Given the description of an element on the screen output the (x, y) to click on. 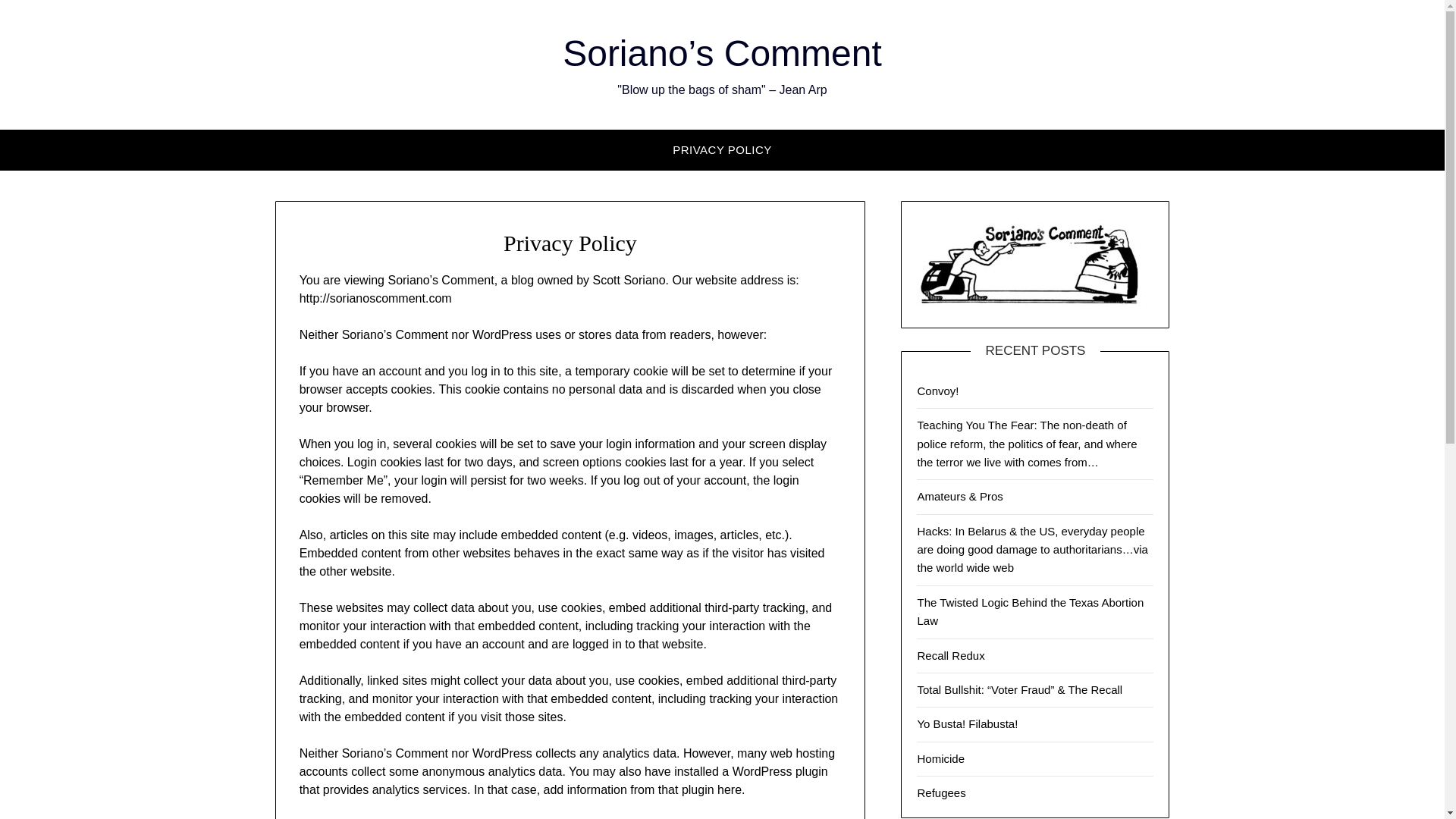
PRIVACY POLICY (722, 149)
Yo Busta! Filabusta! (967, 723)
Homicide (940, 758)
Recall Redux (950, 655)
The Twisted Logic Behind the Texas Abortion Law (1029, 611)
Refugees (941, 792)
Convoy! (937, 390)
